Given the description of an element on the screen output the (x, y) to click on. 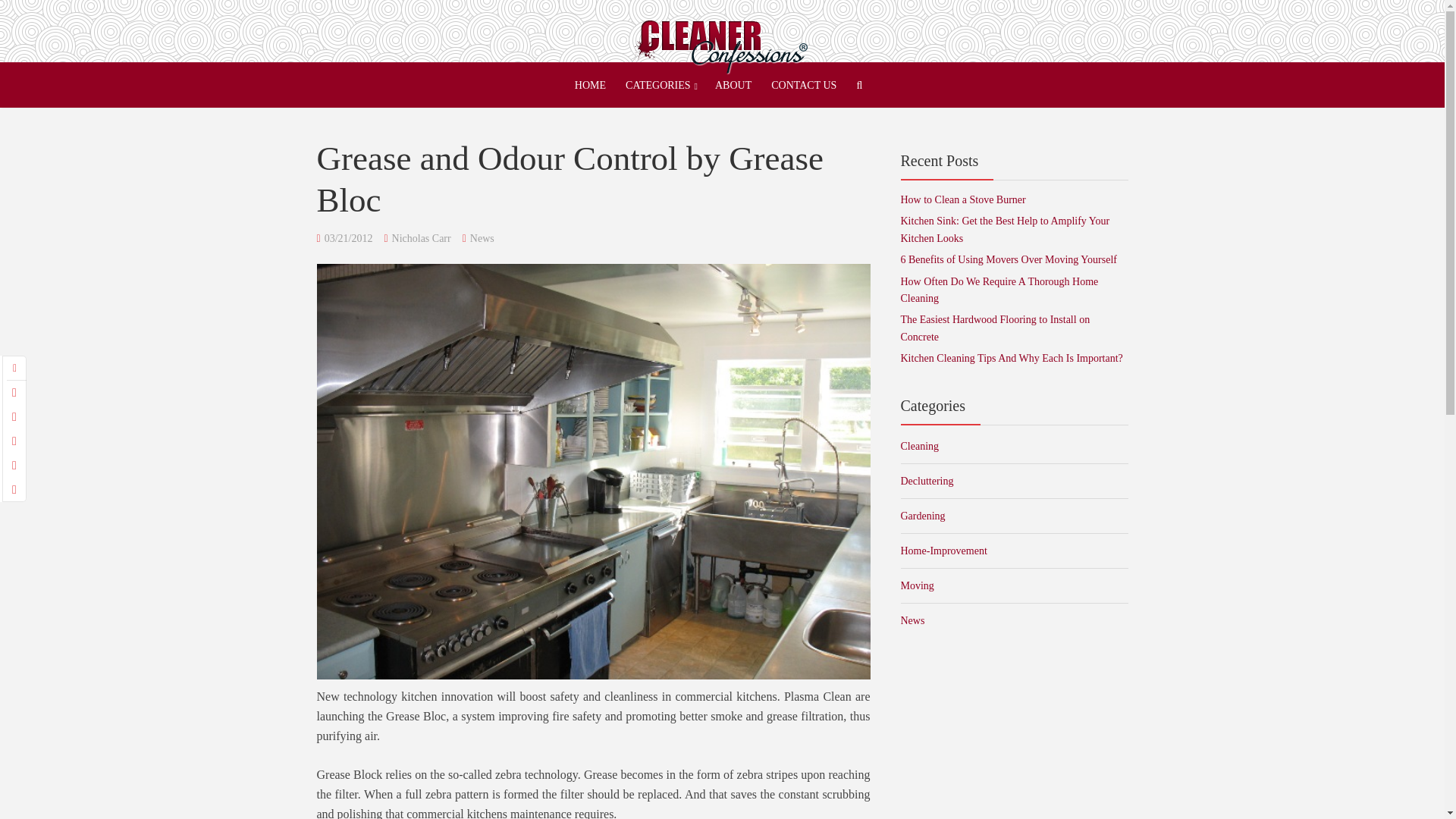
How to Clean a Stove Burner (963, 199)
Nicholas Carr (421, 238)
Cleaner Confessions (721, 42)
The Easiest Hardwood Flooring to Install on Concrete (995, 327)
CATEGORIES (658, 85)
How Often Do We Require A Thorough Home Cleaning (1000, 289)
HOME (590, 85)
CONTACT US (803, 85)
Cleaning (1014, 445)
ABOUT (733, 85)
Kitchen Cleaning Tips And Why Each Is Important? (1011, 357)
6 Benefits of Using Movers Over Moving Yourself (1008, 259)
News (482, 238)
